Given the description of an element on the screen output the (x, y) to click on. 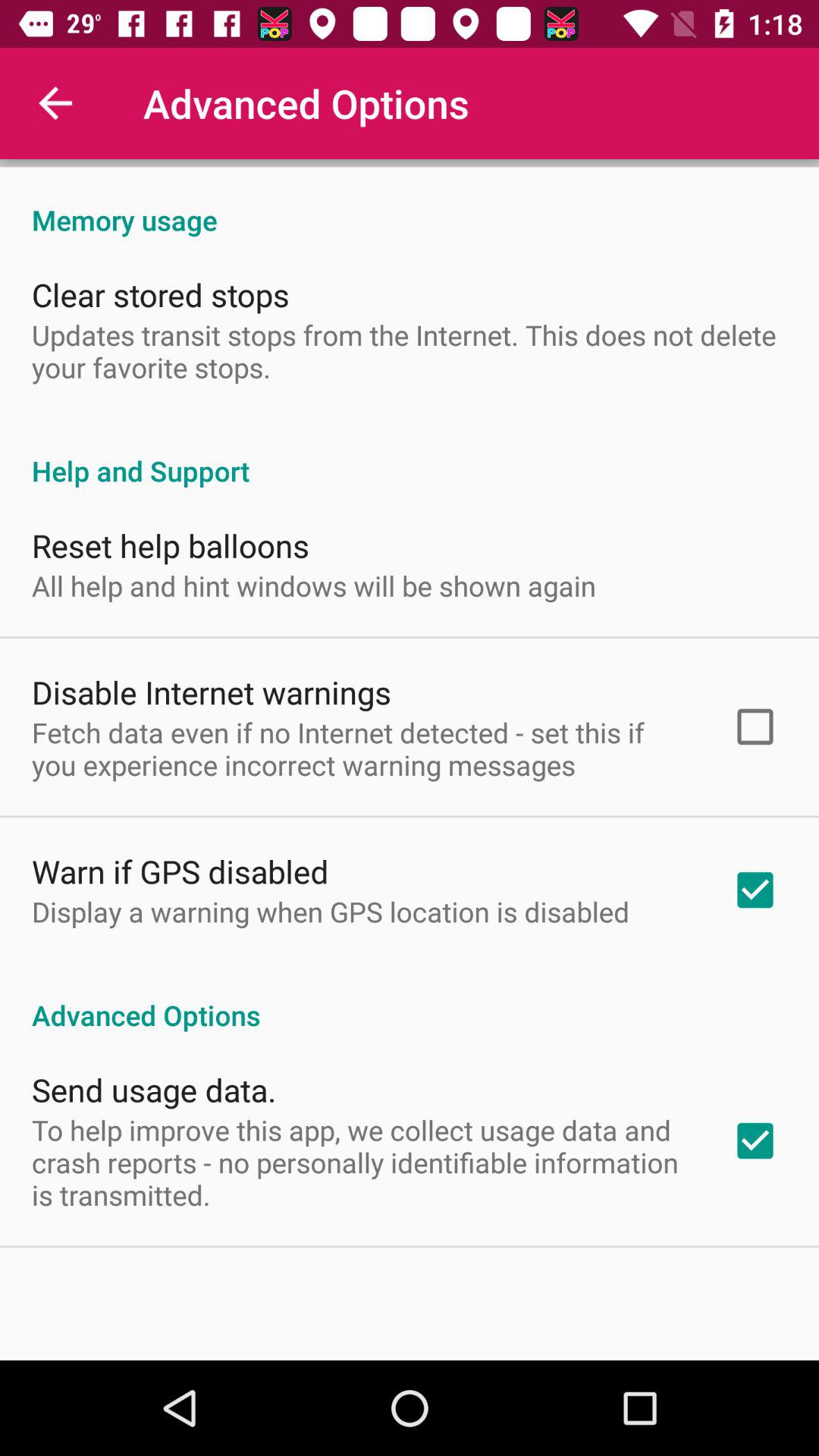
click item above the display a warning item (179, 870)
